Given the description of an element on the screen output the (x, y) to click on. 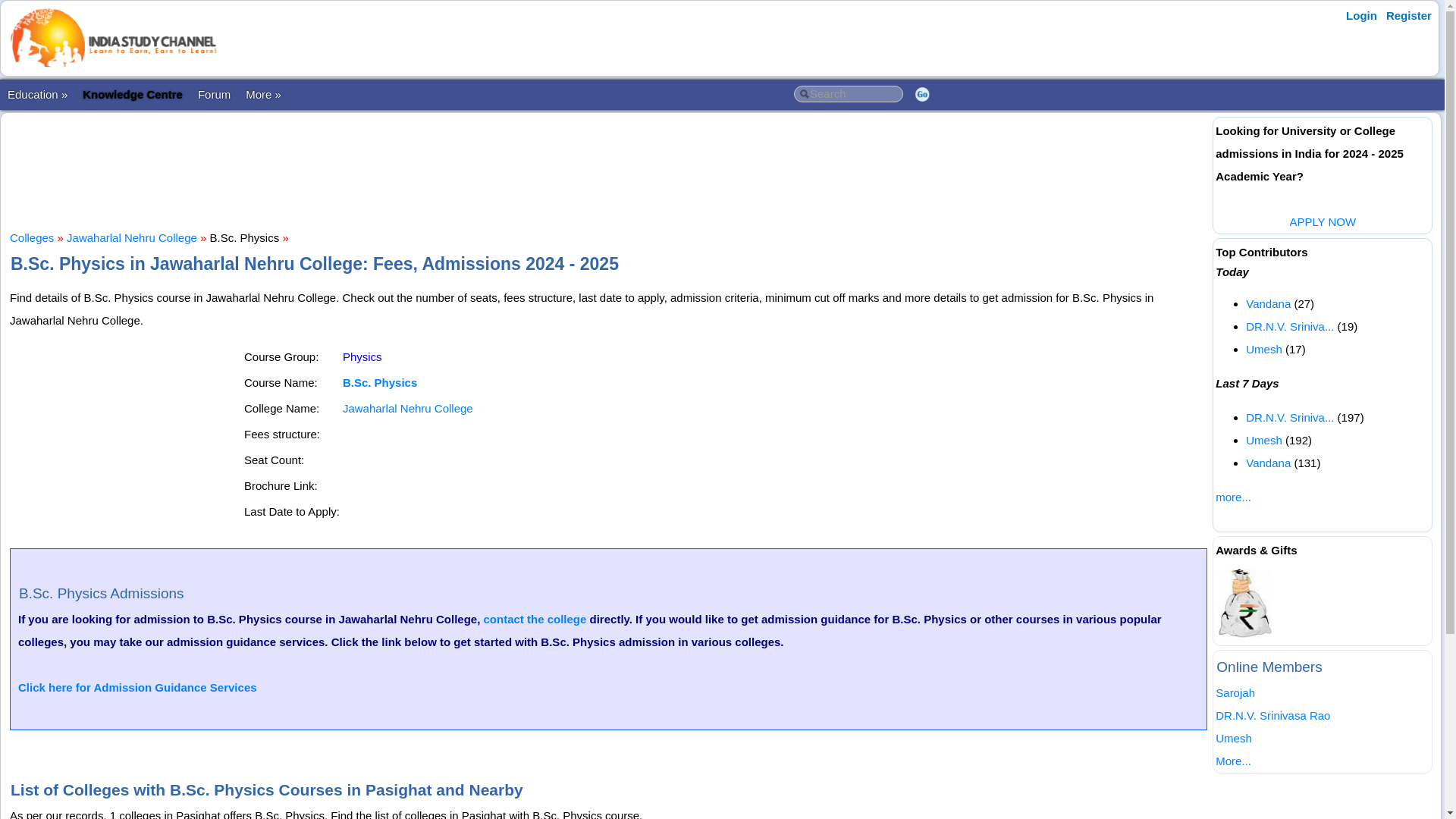
Umesh (1264, 349)
3rd party ad content (125, 440)
B.Sc. Physics (379, 382)
3rd party ad content (609, 169)
Jawaharlal Nehru College (407, 408)
Vandana (1268, 303)
Search (847, 93)
Register (1409, 15)
Login (1361, 15)
Jawaharlal Nehru College (131, 237)
Knowledge Centre (132, 94)
APPLY NOW (1321, 221)
Forum (214, 94)
Colleges (31, 237)
DR.N.V. Sriniva... (1289, 417)
